Given the description of an element on the screen output the (x, y) to click on. 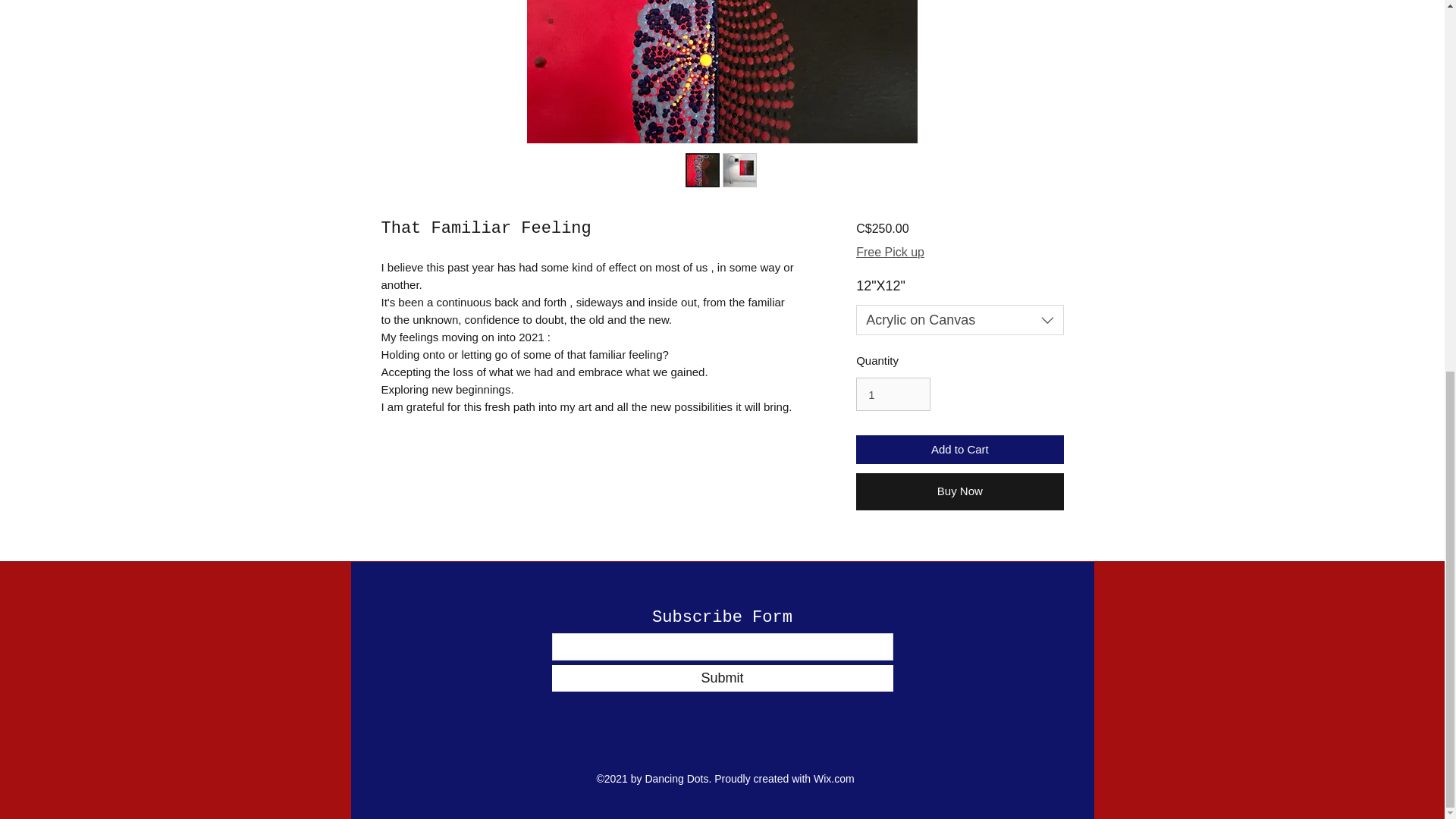
1 (893, 394)
Add to Cart (959, 449)
Submit (722, 678)
Free Pick up (890, 252)
Acrylic on Canvas (959, 319)
Buy Now (959, 491)
